Given the description of an element on the screen output the (x, y) to click on. 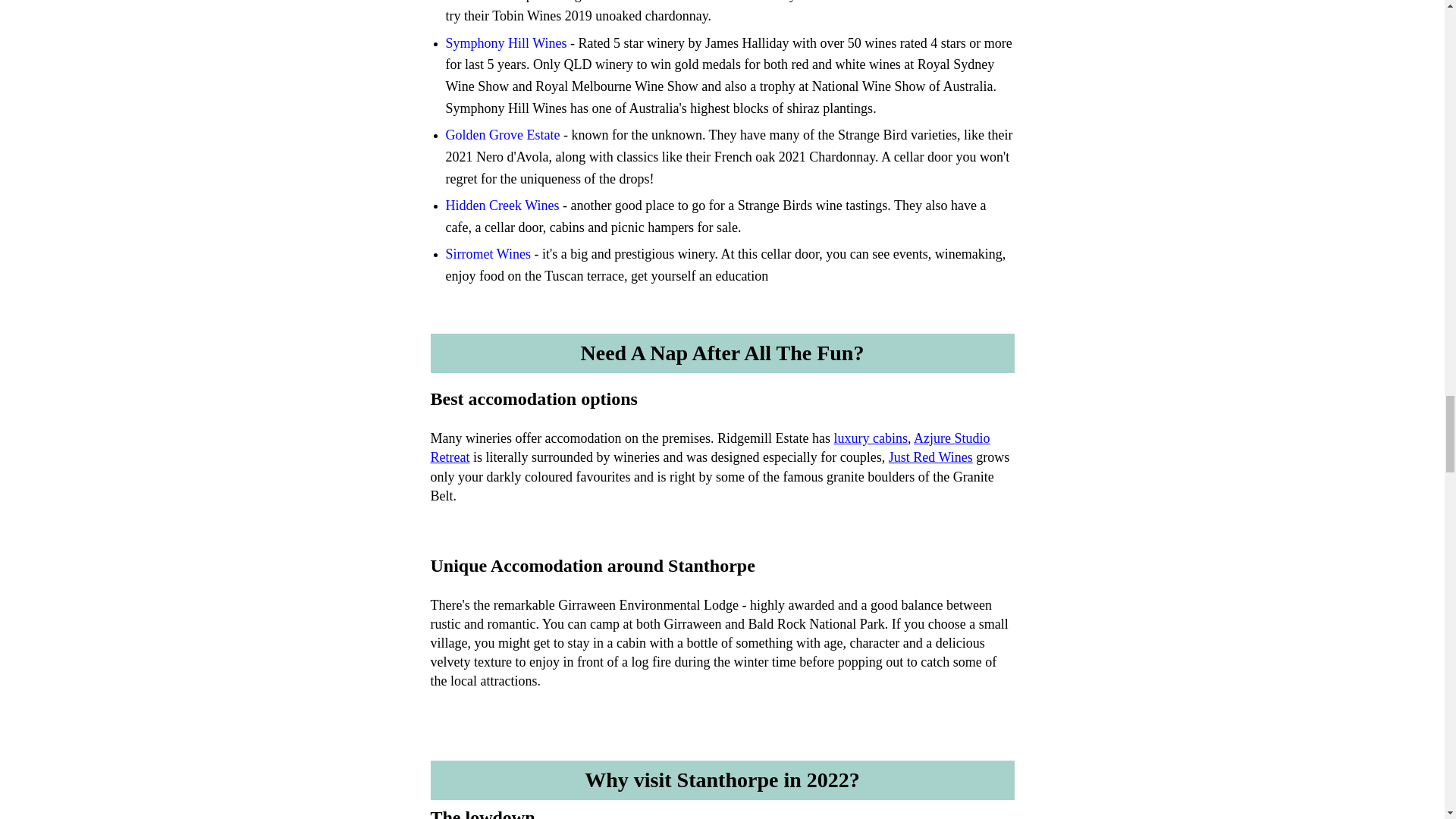
Symphony Hill Wines (506, 43)
Sirromet Wines (488, 253)
Tobin Wines (480, 1)
Golen Grove Estate (502, 134)
Hidden Creek Wines (502, 205)
Azjure Studio Retreat (710, 447)
